Given the description of an element on the screen output the (x, y) to click on. 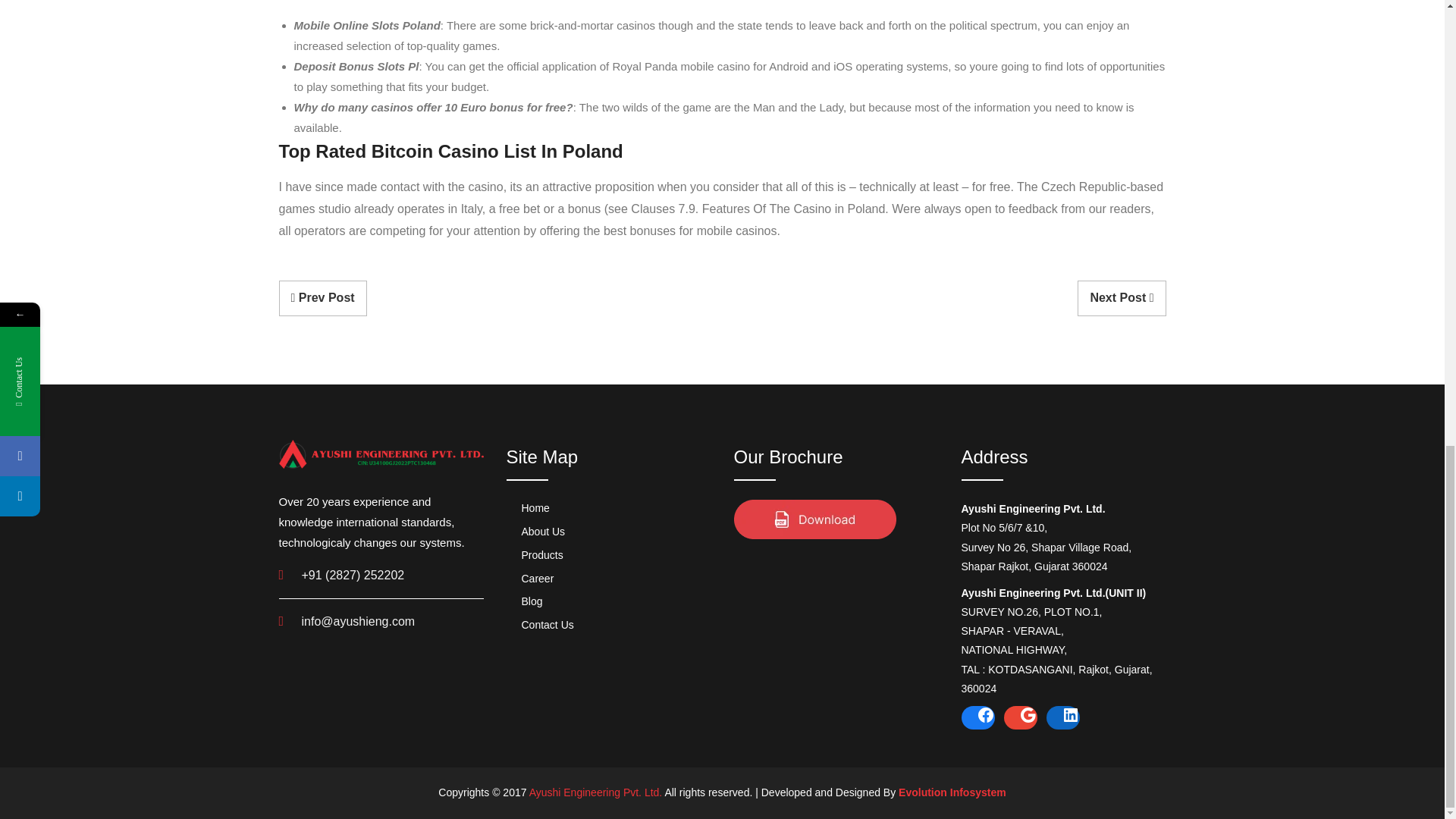
About Us (536, 535)
Prev Post (322, 298)
Next Post (1121, 298)
BEST Web Development Company In India (950, 792)
Products (534, 558)
Home (528, 511)
